Given the description of an element on the screen output the (x, y) to click on. 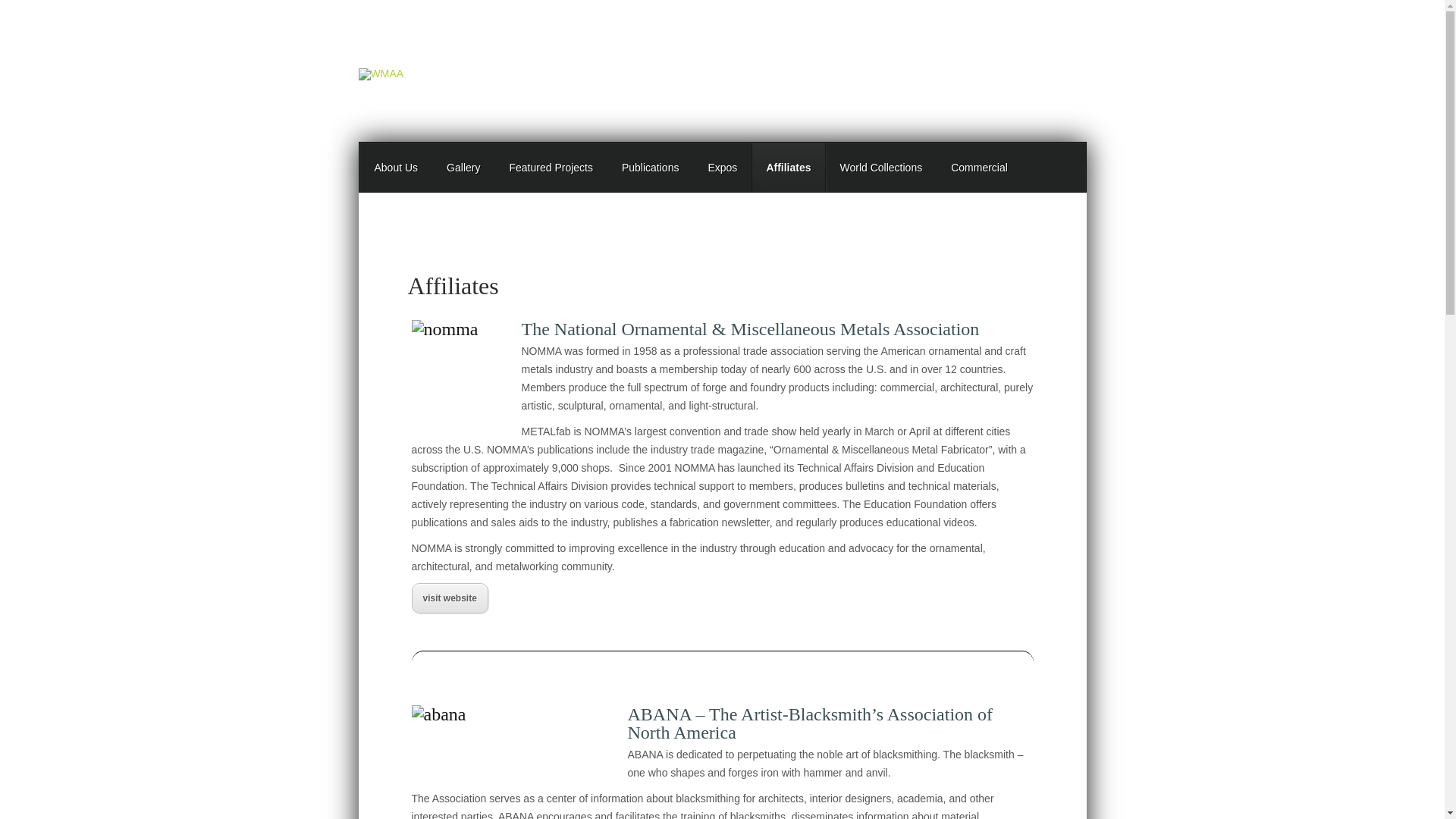
Expos (722, 168)
About Us (395, 168)
Affiliates (788, 168)
Gallery (463, 168)
World Collections (880, 168)
Featured Projects (551, 168)
Commercial (979, 168)
Publications (650, 168)
visit website (448, 599)
